Given the description of an element on the screen output the (x, y) to click on. 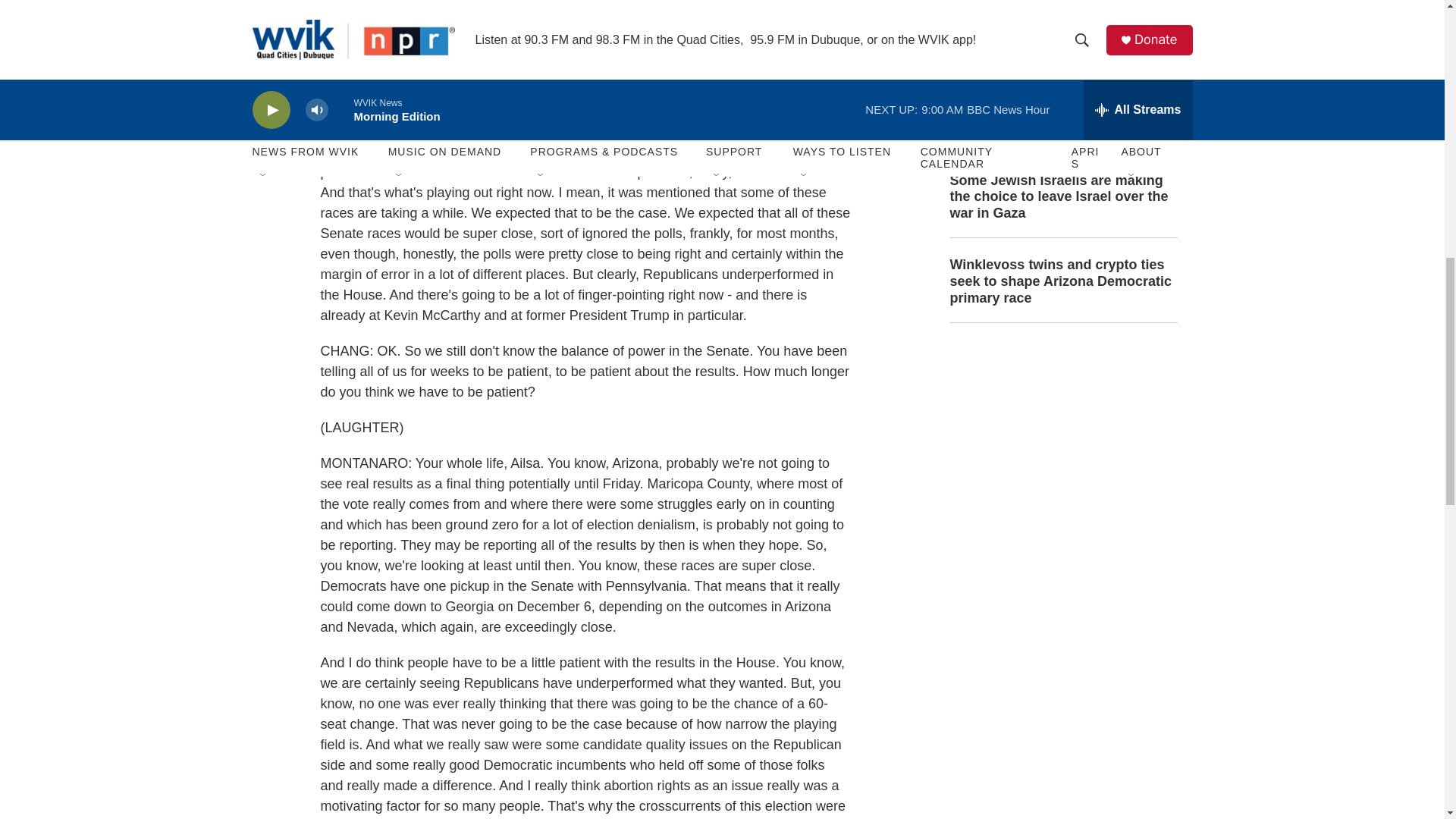
3rd party ad content (1062, 447)
